Given the description of an element on the screen output the (x, y) to click on. 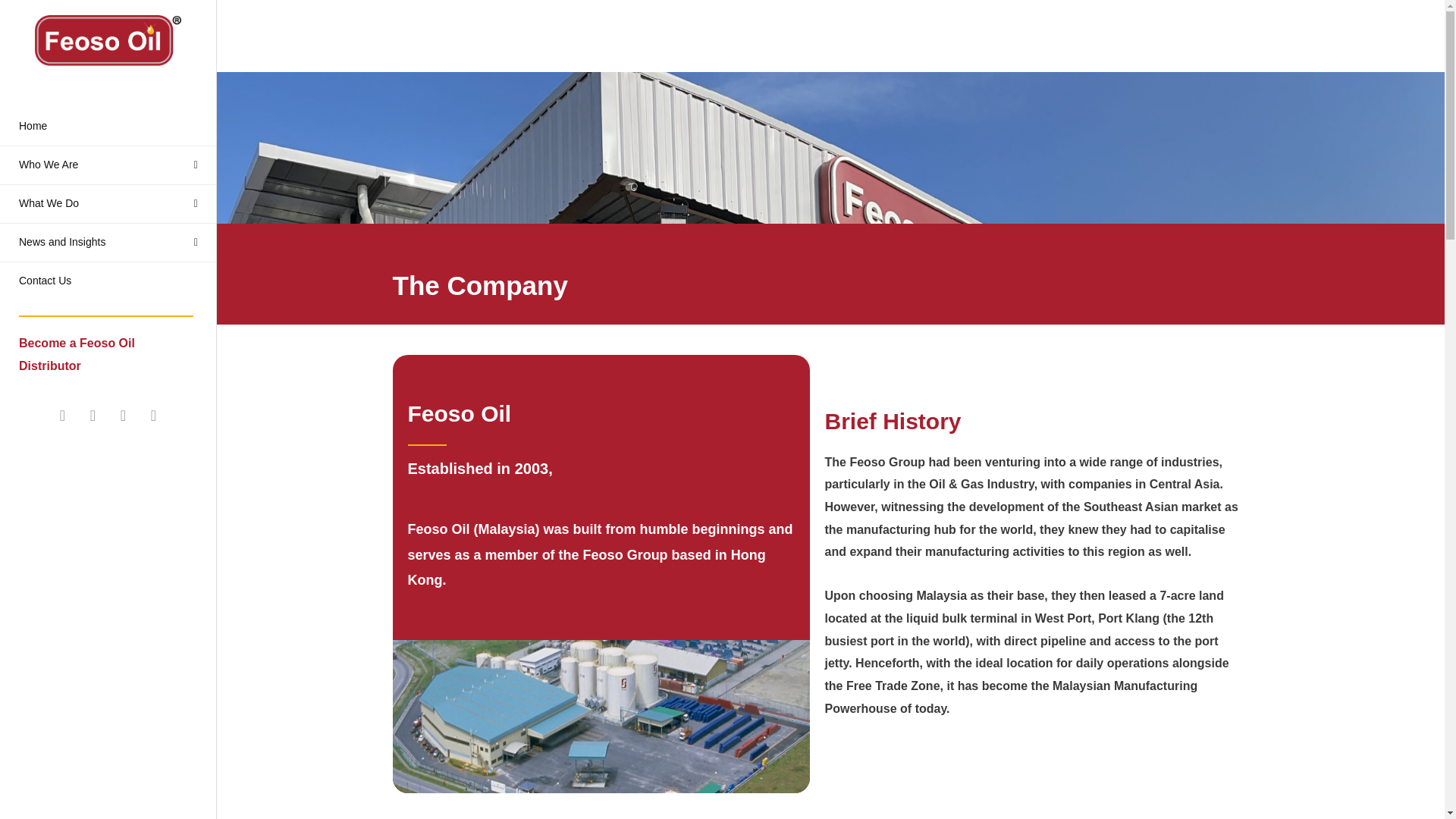
cropped-cropped-Feoso-Logo.png (107, 40)
